Given the description of an element on the screen output the (x, y) to click on. 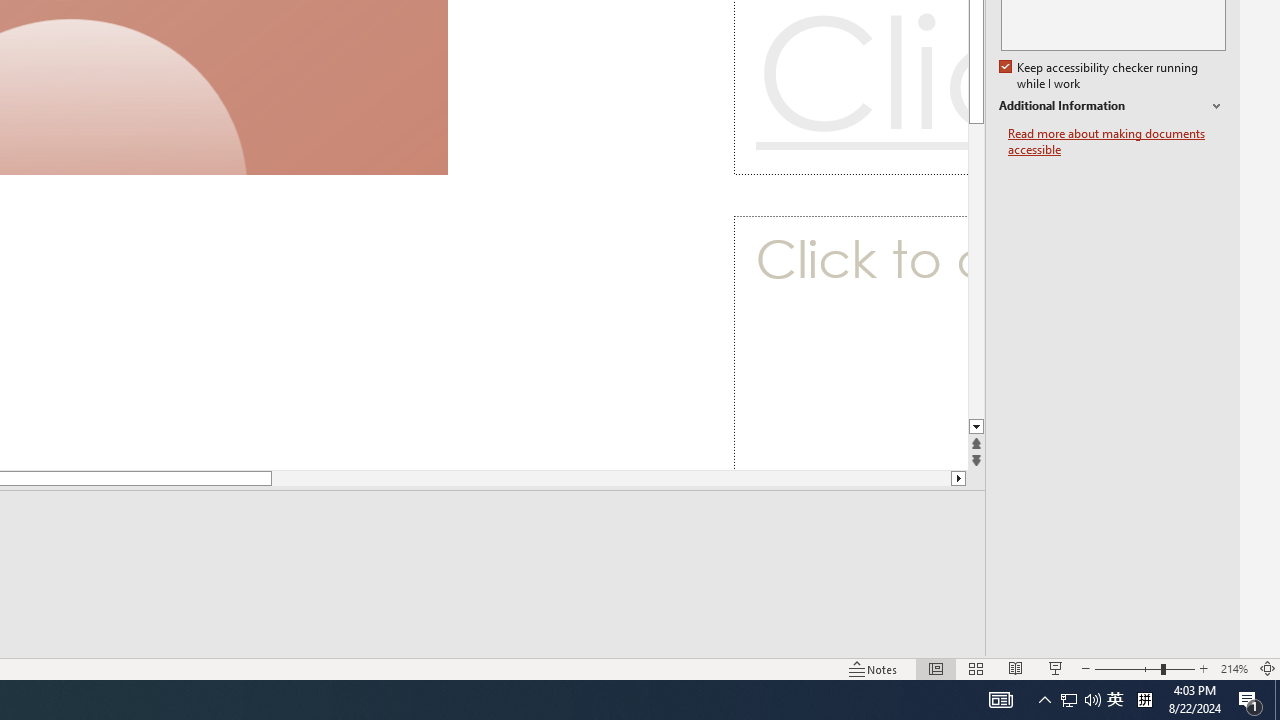
Additional Information (1112, 106)
Subtitle TextBox (850, 343)
Keep accessibility checker running while I work (1099, 76)
Read more about making documents accessible (1117, 142)
Page down (572, 478)
Zoom 214% (1234, 668)
